Given the description of an element on the screen output the (x, y) to click on. 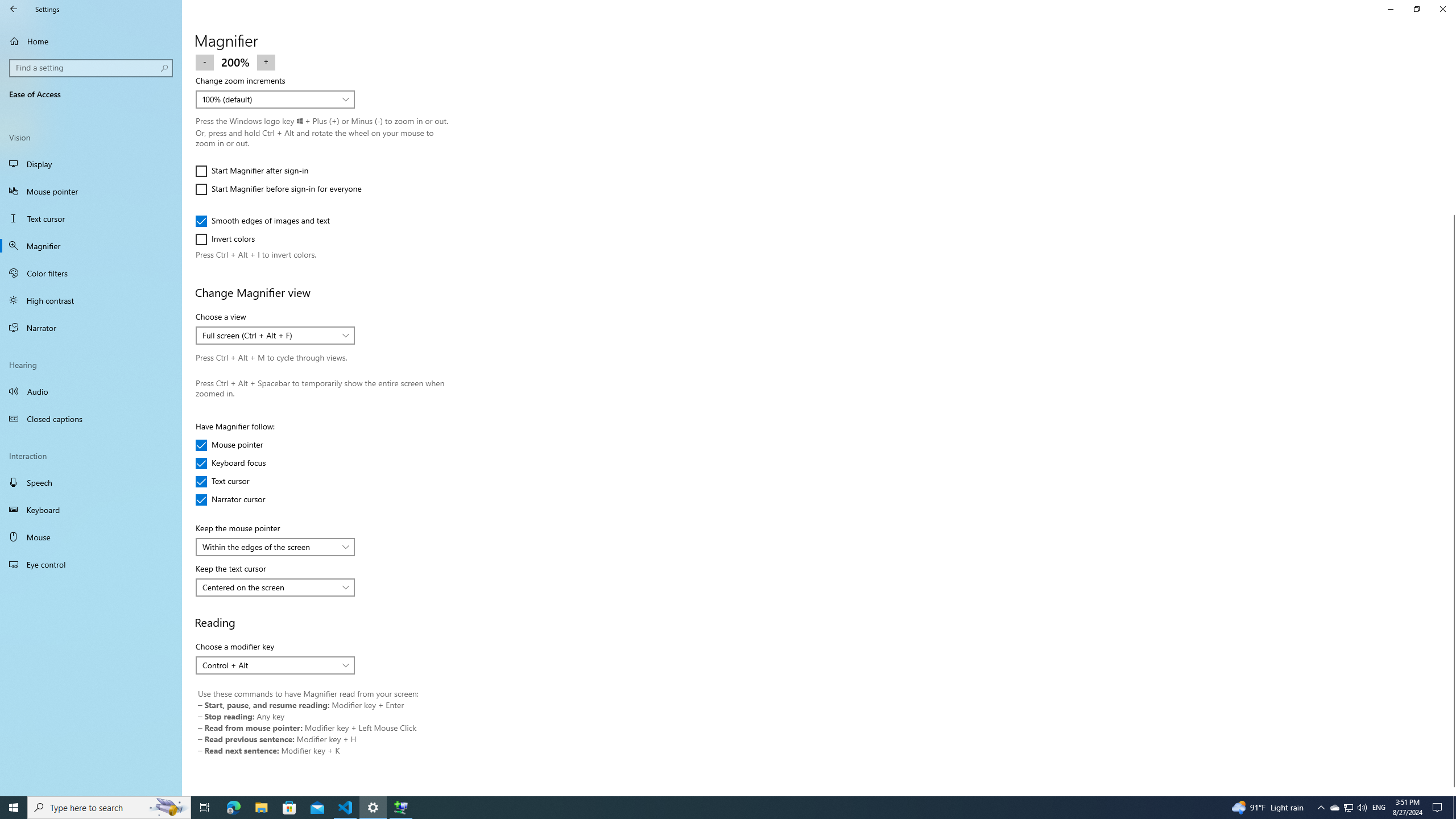
Make everything on my computer bigger (267, 13)
Text cursor (91, 217)
Keyboard (91, 509)
